Given the description of an element on the screen output the (x, y) to click on. 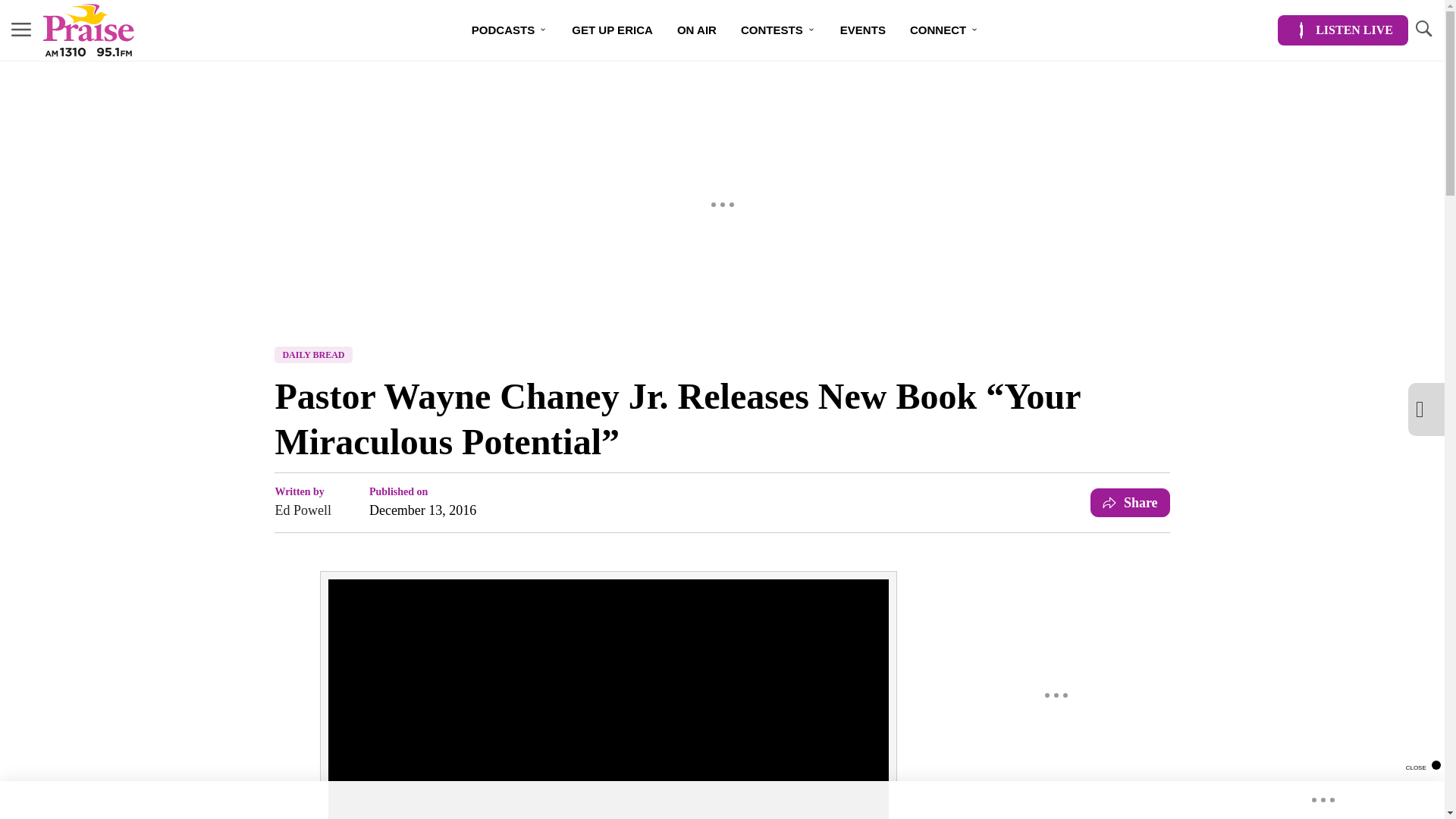
MENU (20, 30)
ON AIR (697, 30)
DAILY BREAD (313, 354)
GET UP ERICA (612, 30)
CONTESTS (778, 30)
TOGGLE SEARCH (1422, 30)
MENU (20, 29)
TOGGLE SEARCH (1422, 28)
CONNECT (944, 30)
Share (1130, 502)
